Given the description of an element on the screen output the (x, y) to click on. 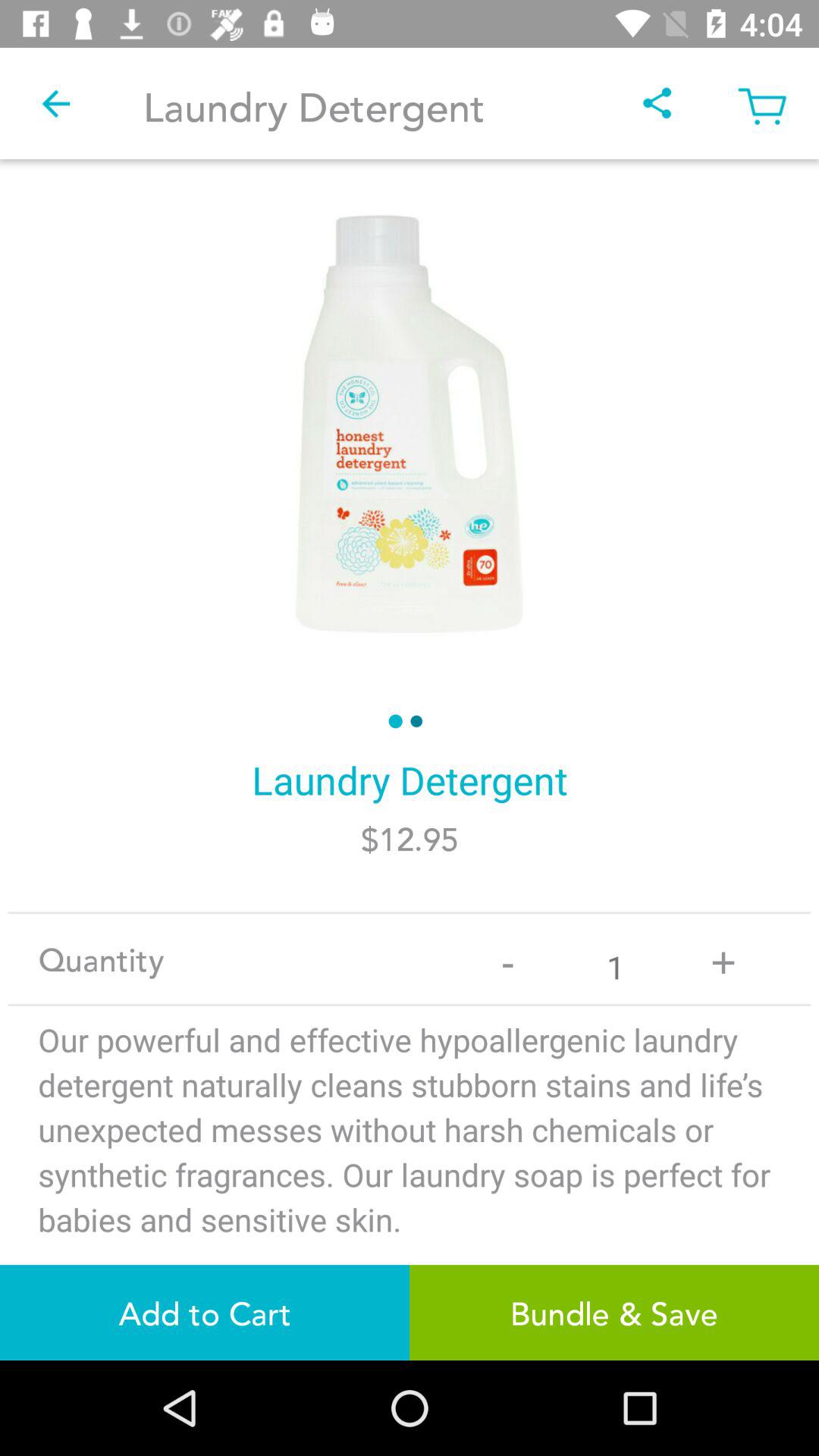
launch the icon to the right of the add to cart (614, 1312)
